Given the description of an element on the screen output the (x, y) to click on. 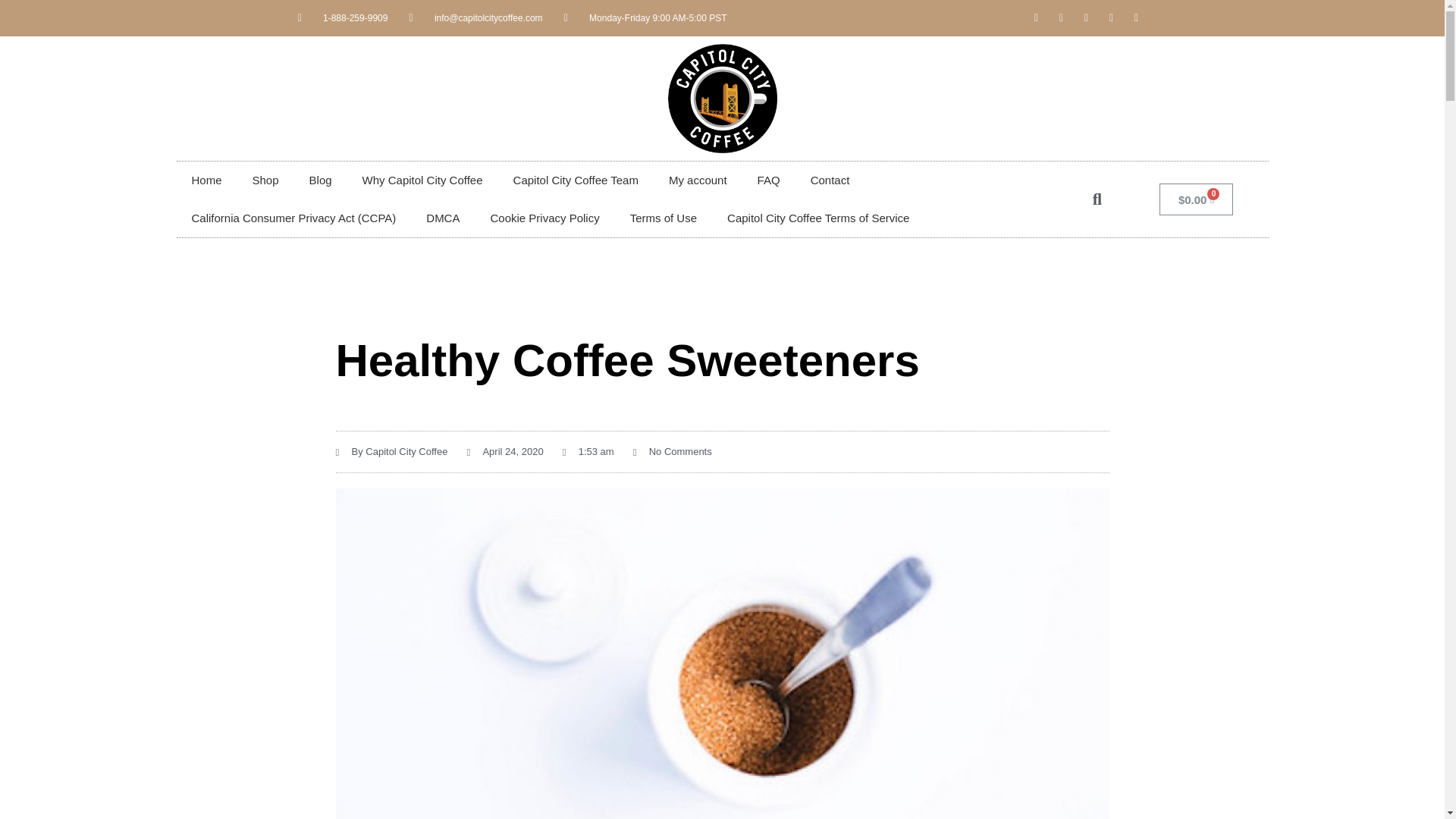
Why Capitol City Coffee (422, 180)
DMCA (442, 218)
Capitol City Coffee Team (575, 180)
Home (205, 180)
Capitol City Coffee Terms of Service (817, 218)
FAQ (768, 180)
Twitter (1061, 17)
Terms of Use (662, 218)
1-888-259-9909 (342, 17)
Google-plus-g (1085, 17)
Facebook-f (1035, 17)
My account (697, 180)
Instagram (1111, 17)
Contact (829, 180)
